Given the description of an element on the screen output the (x, y) to click on. 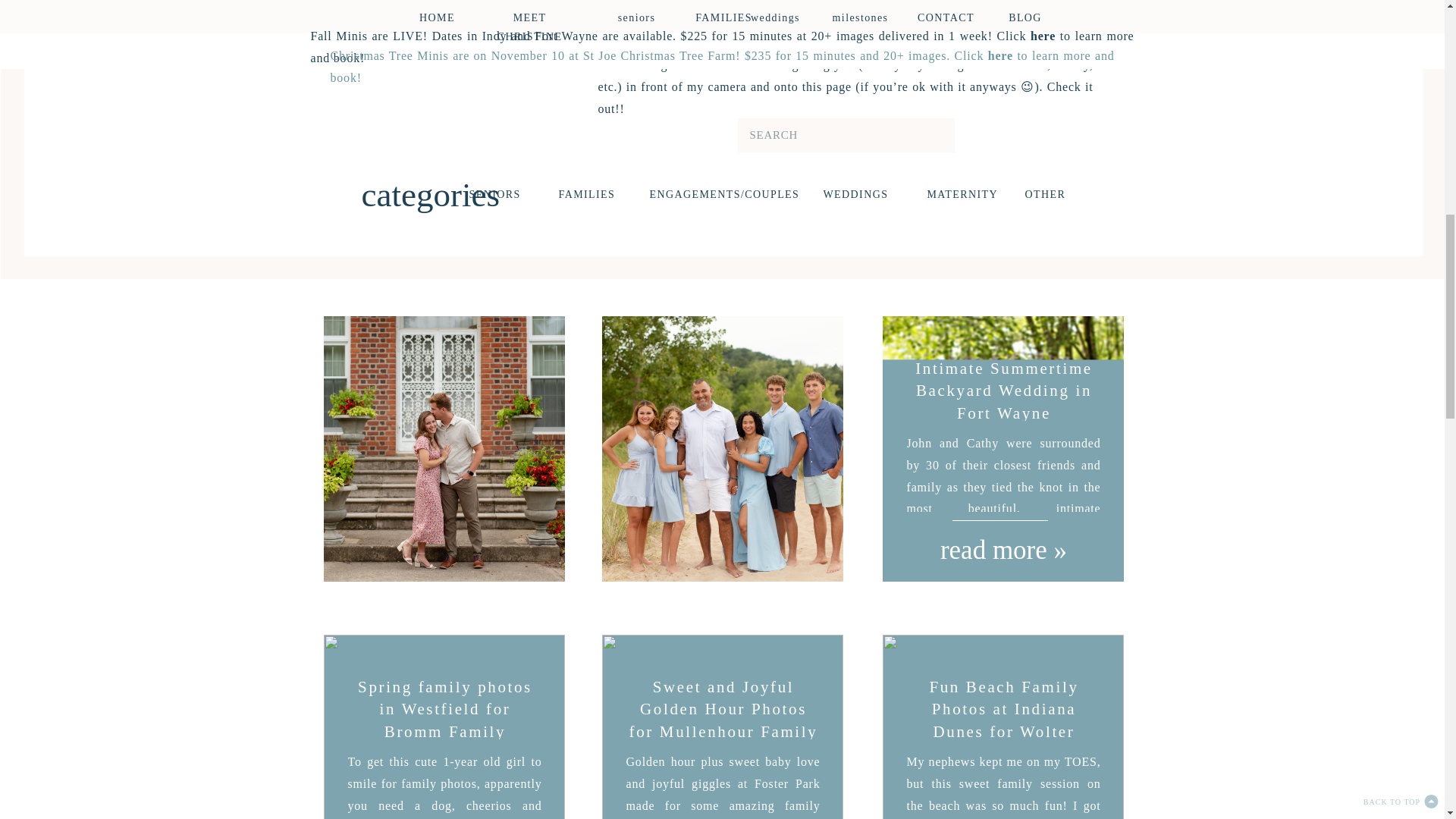
Sweet and Joyful Golden Hour Photos for Mullenhour Family (722, 726)
Summertime Beach Family Photos at Warren Dunes (722, 448)
Summertime Beach Family Photos at Warren Dunes (723, 548)
Intimate Summertime Backyard Wedding in Fort Wayne (1003, 548)
WEDDINGS (853, 194)
Fun Beach Family Photos at Indiana Dunes for Wolter Family (1003, 726)
MATERNITY (957, 194)
Intimate Summertime Backyard Wedding in Fort Wayne (1003, 448)
Intimate Summertime Backyard Wedding in Fort Wayne (1004, 390)
SENIORS (493, 194)
